Given the description of an element on the screen output the (x, y) to click on. 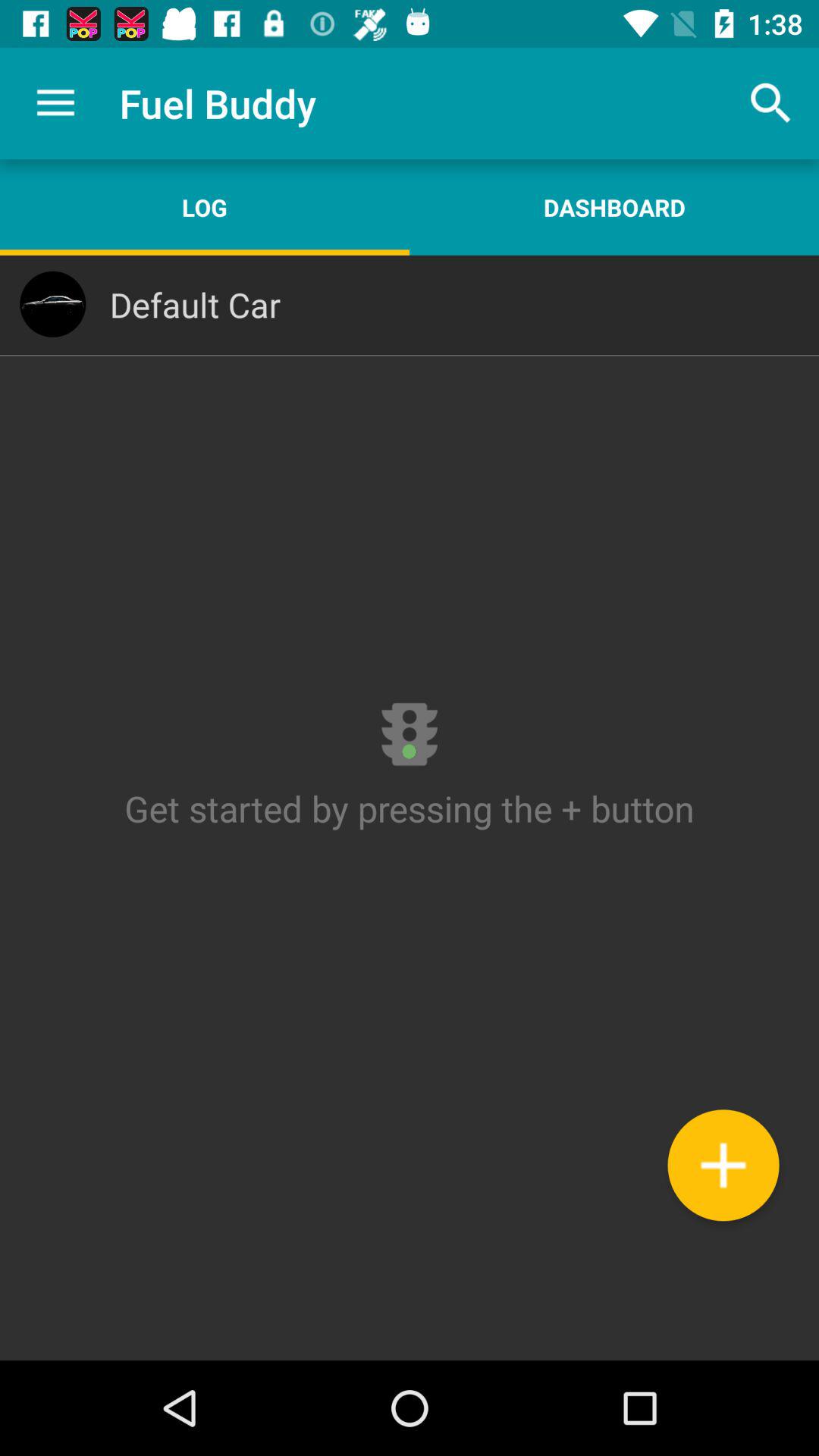
add a car (723, 1165)
